Given the description of an element on the screen output the (x, y) to click on. 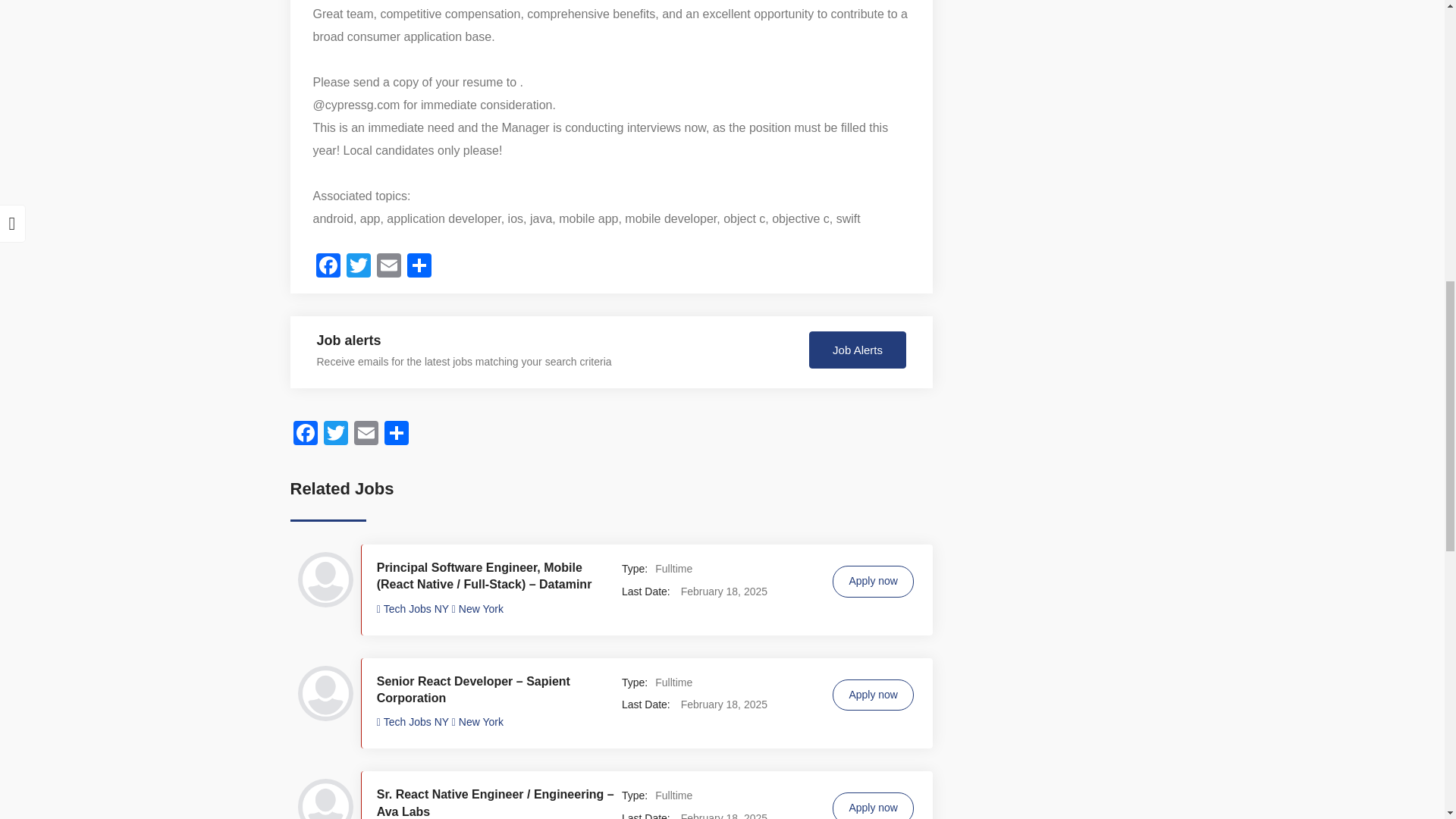
Facebook (304, 434)
Share (418, 267)
Tech Jobs NY (414, 607)
Apply now (873, 805)
Email (387, 267)
Apply now (873, 581)
New York (480, 607)
Twitter (335, 434)
Job Alerts (857, 349)
Twitter (357, 267)
Apply now (873, 695)
Email (365, 434)
Facebook (327, 267)
Facebook (304, 434)
New York (480, 721)
